Given the description of an element on the screen output the (x, y) to click on. 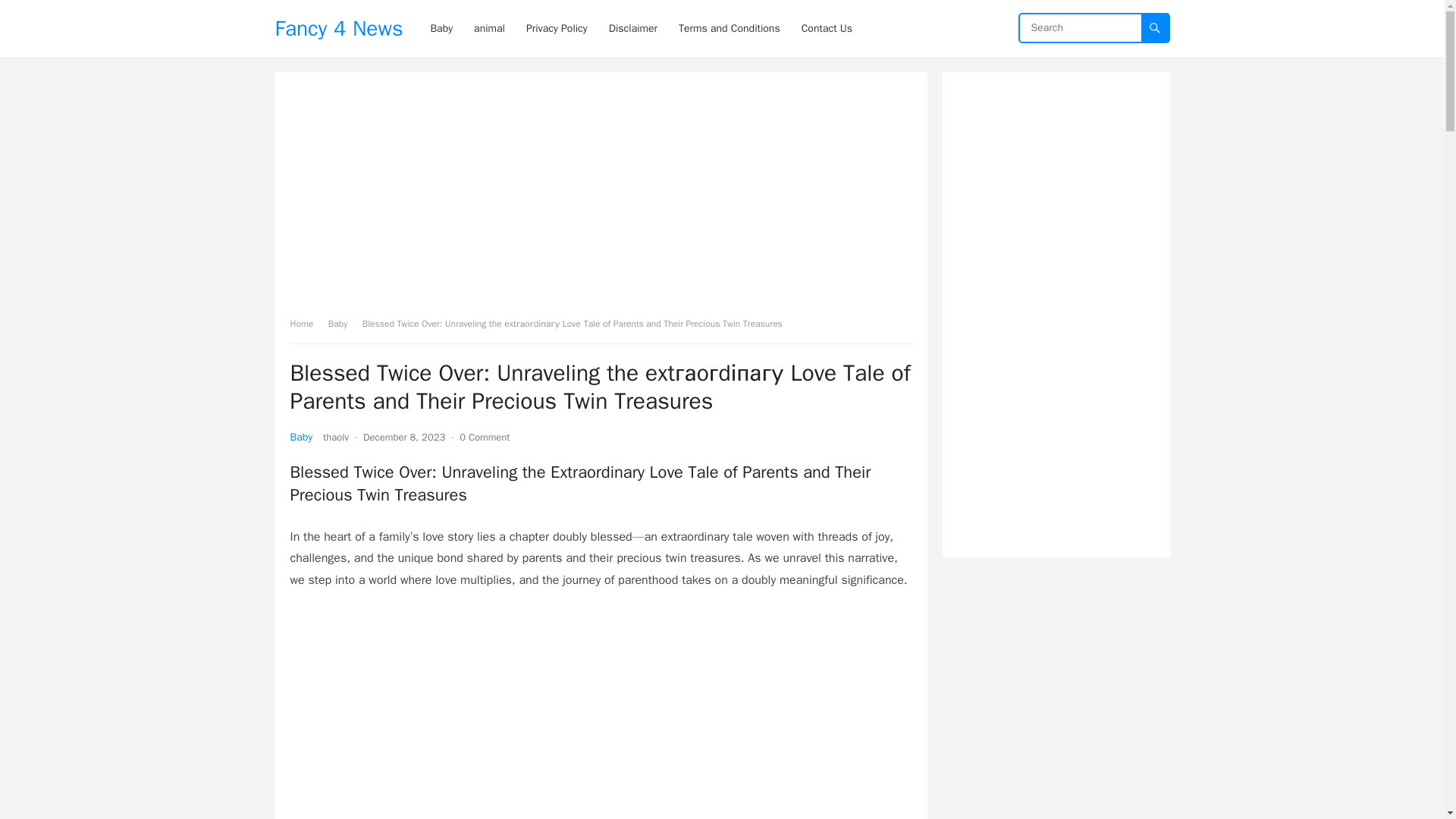
Posts by thaolv (336, 436)
Fancy 4 News (339, 28)
Baby (301, 436)
Baby (343, 323)
Home (306, 323)
Disclaimer (632, 28)
Contact Us (826, 28)
Terms and Conditions (729, 28)
0 Comment (484, 436)
thaolv (336, 436)
